Given the description of an element on the screen output the (x, y) to click on. 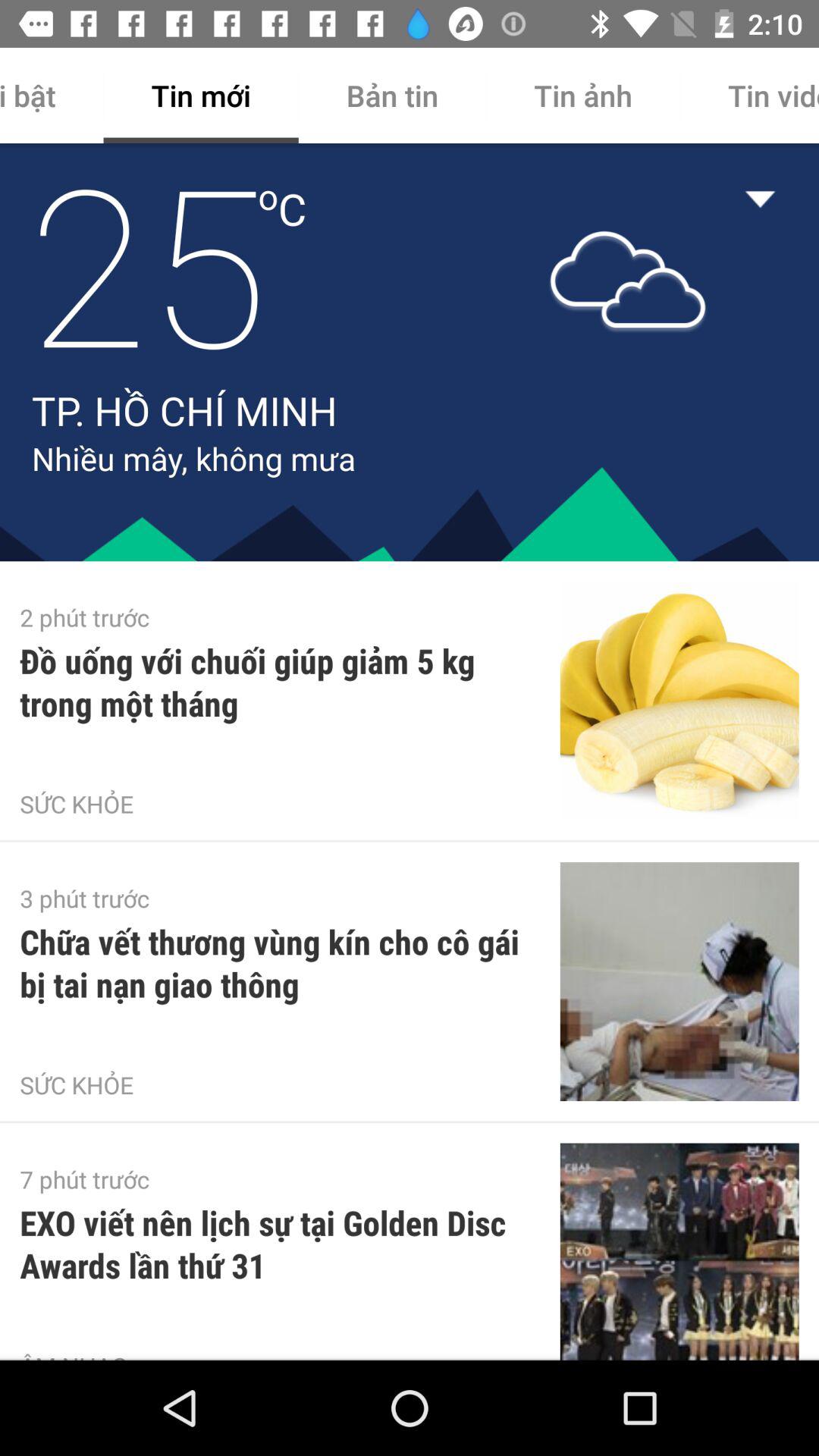
launch the tin video icon (749, 95)
